Given the description of an element on the screen output the (x, y) to click on. 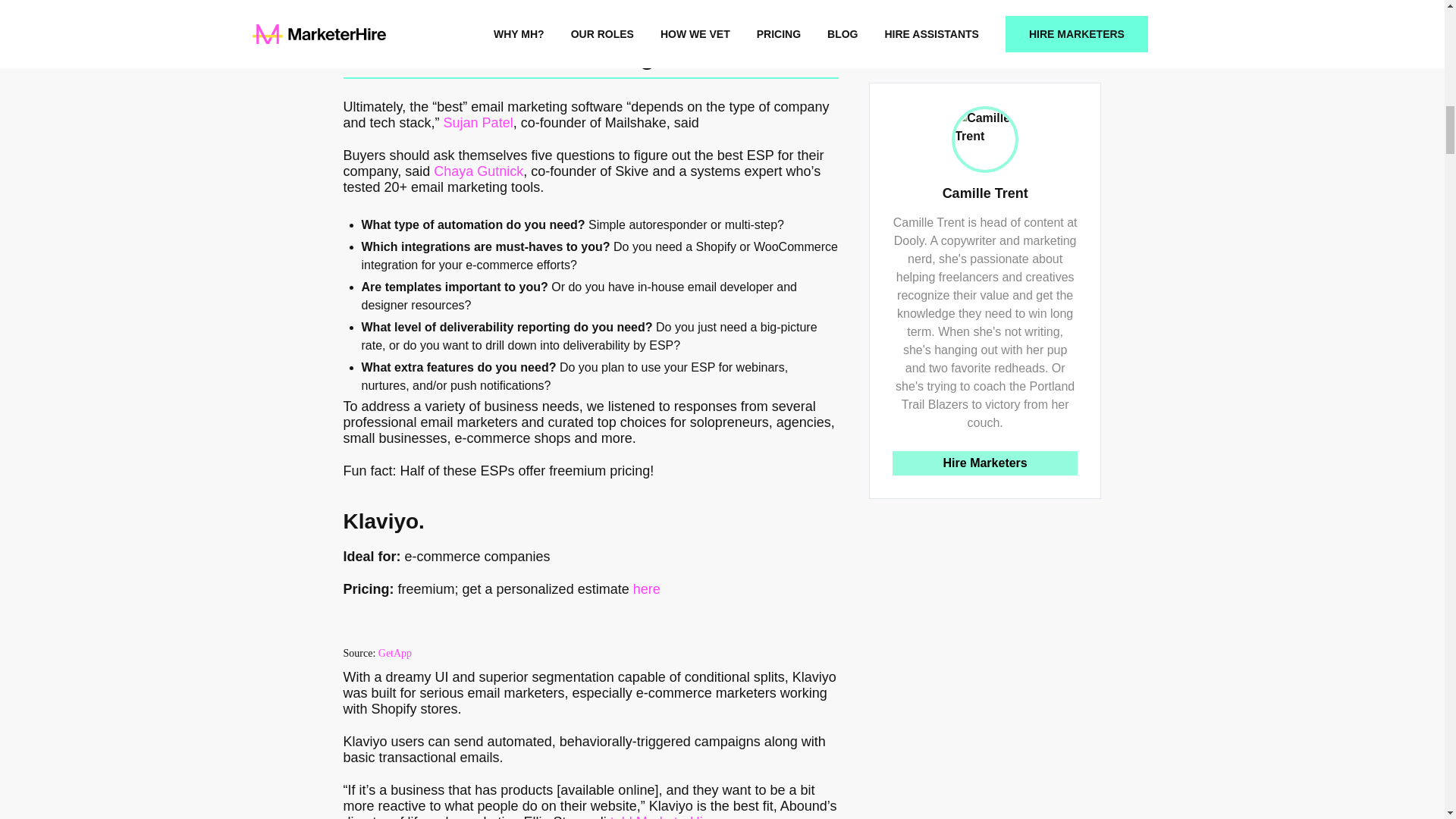
Sujan Patel (478, 122)
here (647, 589)
Chaya Gutnick (477, 171)
GetApp (395, 653)
